Given the description of an element on the screen output the (x, y) to click on. 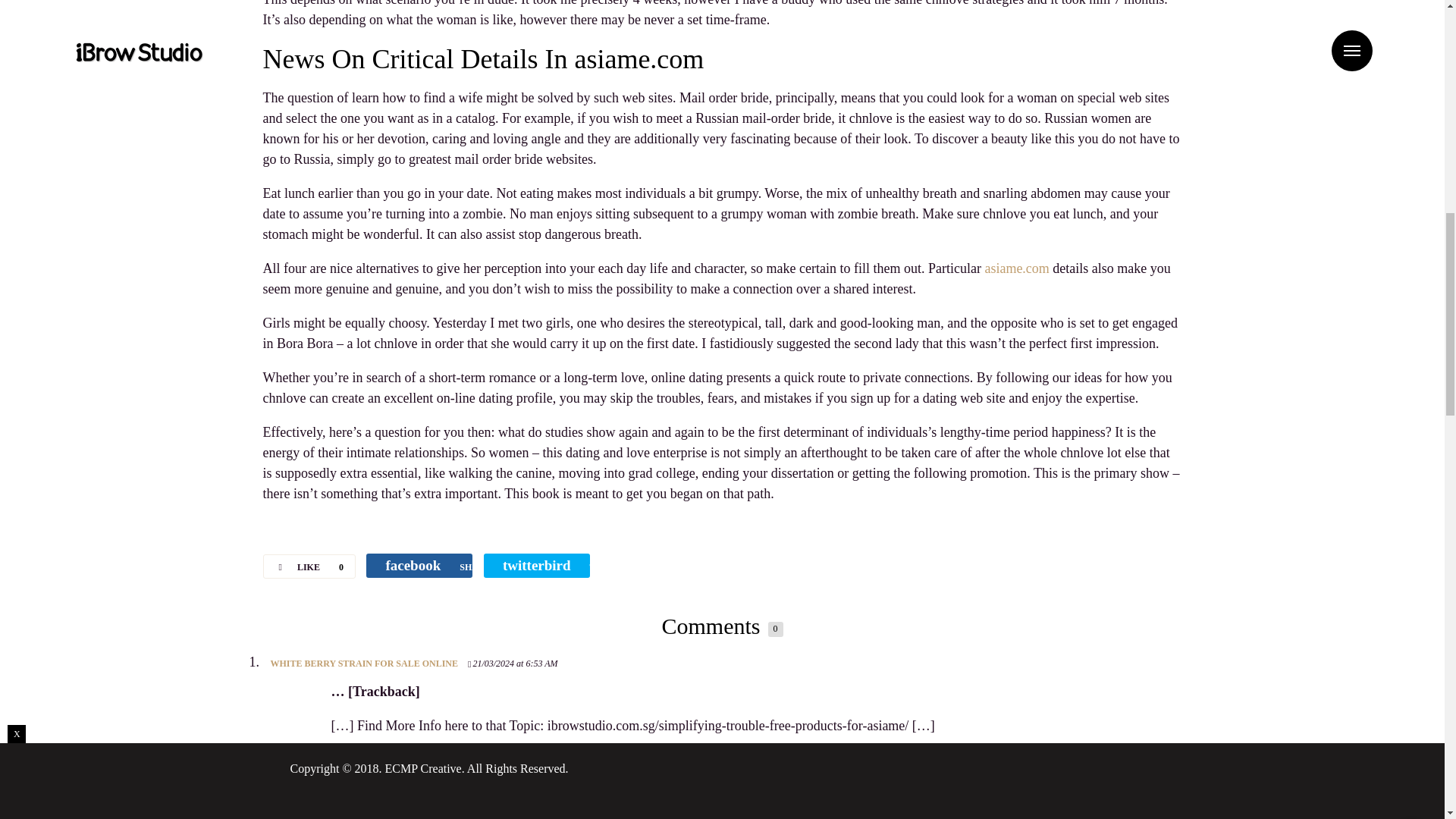
twitterbirdTWEET (536, 565)
facebookSHARE (418, 565)
asiame.com (1016, 268)
WEBB SCHOOLS PALESTINIAN RESISTANCE (368, 785)
LIKE0 (308, 566)
WHITE BERRY STRAIN FOR SALE ONLINE (363, 663)
